Given the description of an element on the screen output the (x, y) to click on. 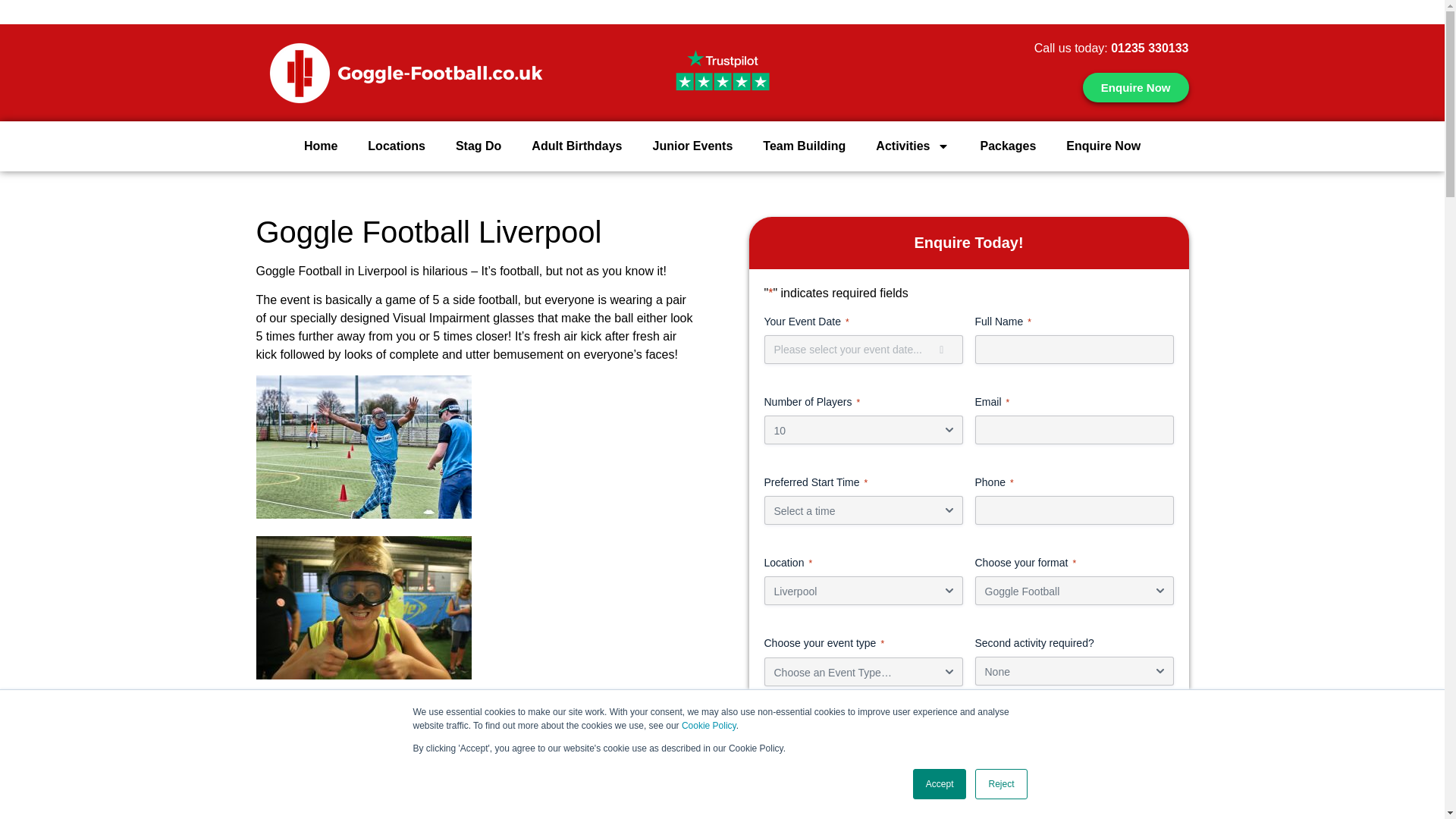
Packages (1007, 145)
Cookie Policy (708, 725)
Adult Birthdays (576, 145)
Team Building (804, 145)
Activities (911, 145)
Accept (939, 784)
Reject (1000, 784)
Locations (396, 145)
Call us today: 01235 330133 (1111, 47)
Junior Events (692, 145)
Enquire Now (1136, 87)
Stag Do (478, 145)
Home (320, 145)
